Given the description of an element on the screen output the (x, y) to click on. 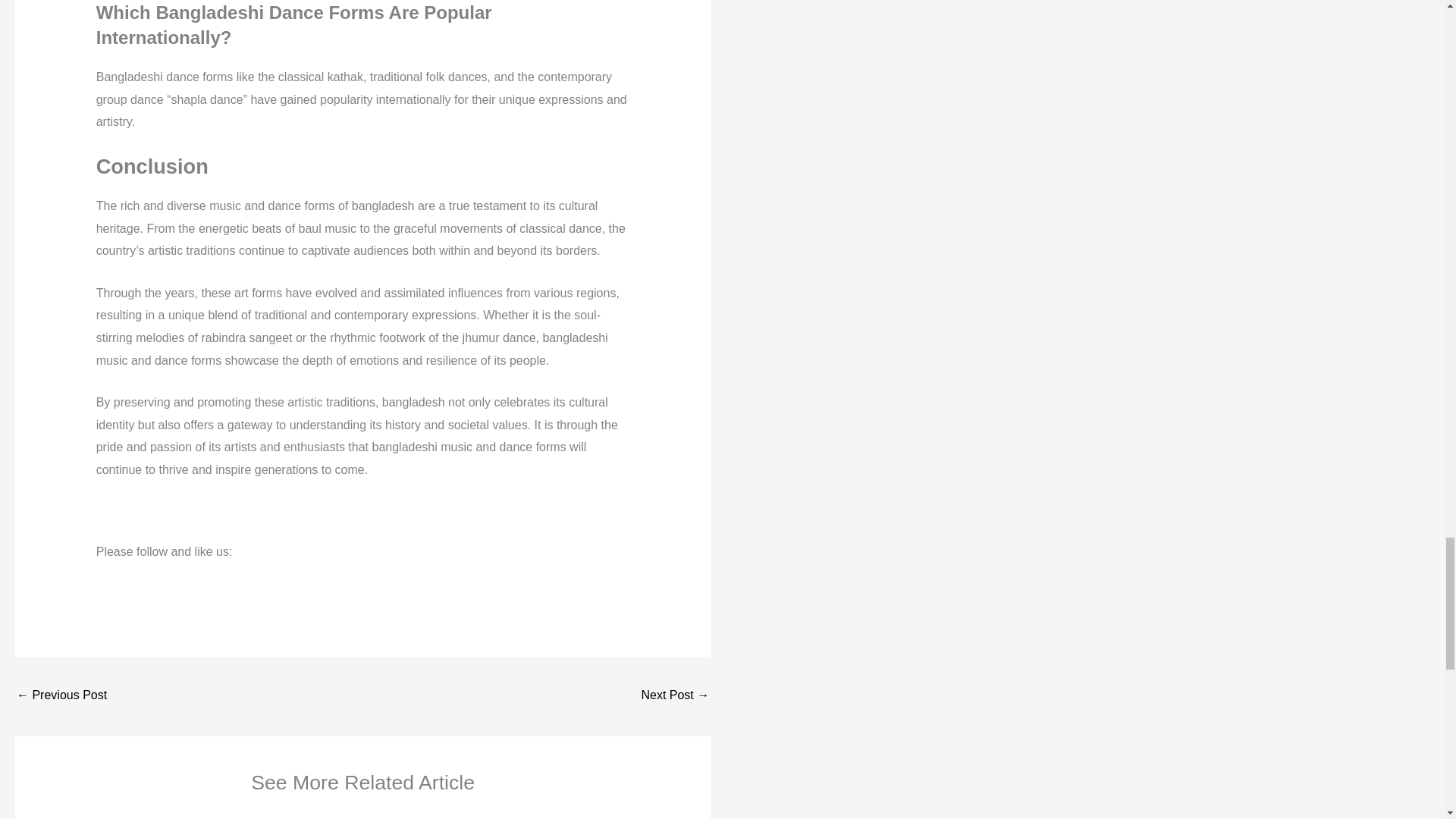
Facebook Share (183, 574)
Tweet (235, 573)
Pin Share (284, 574)
Dakhil Result 2024 Madrasah Education Board (61, 696)
